Given the description of an element on the screen output the (x, y) to click on. 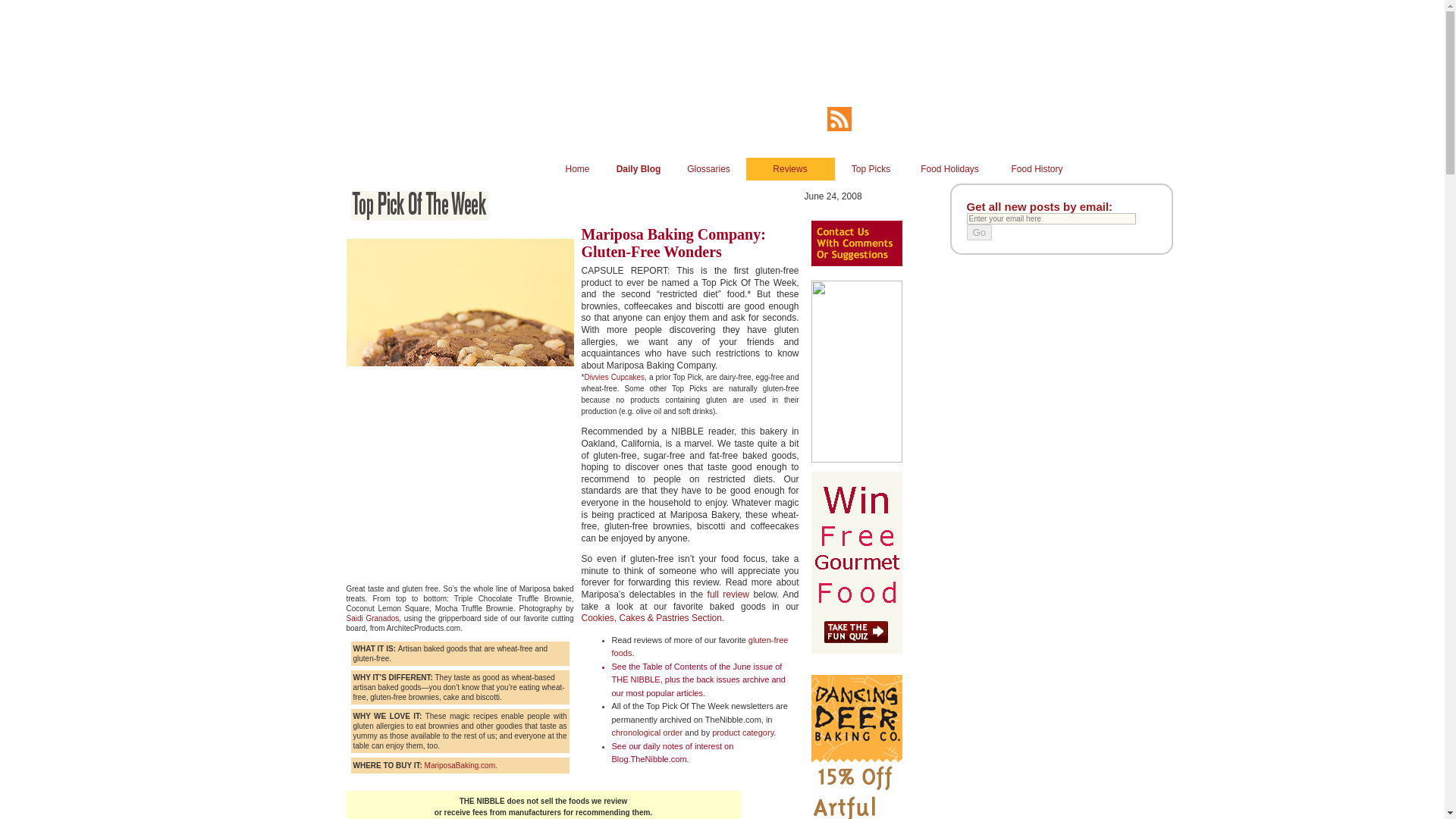
Table of Contents (674, 665)
Subscribe to our RSS Feed (838, 128)
Daily Blog (638, 169)
Blog.TheNibble.com (648, 758)
MariposaBaking.com (460, 765)
Saidi Granados (372, 618)
Top Picks (870, 169)
Go (978, 232)
Food Holidays (949, 169)
gluten-free foods (699, 646)
Reviews (789, 169)
full review (728, 593)
product category (742, 732)
Glossaries (708, 169)
Home (576, 169)
